Given the description of an element on the screen output the (x, y) to click on. 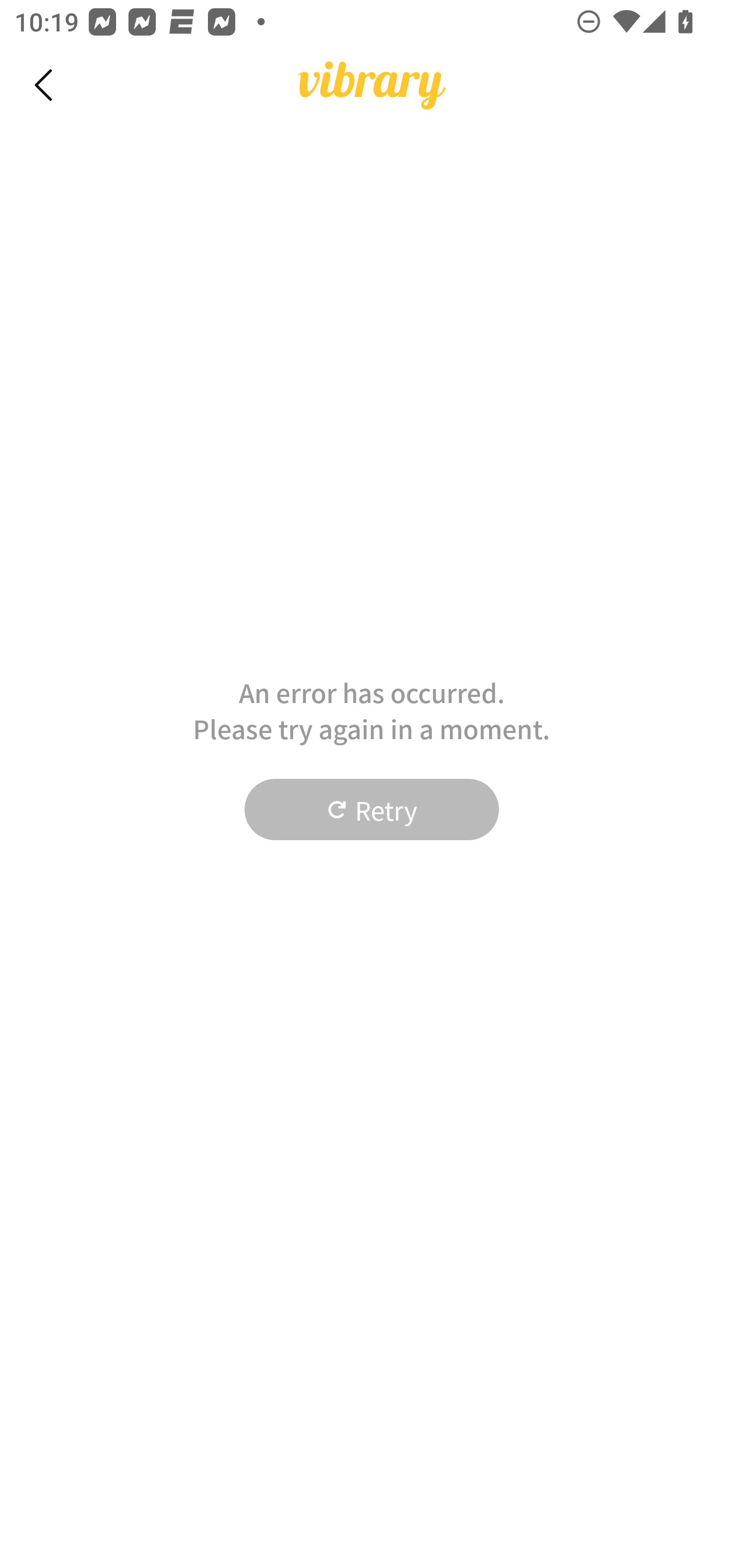
Retry (371, 809)
